Given the description of an element on the screen output the (x, y) to click on. 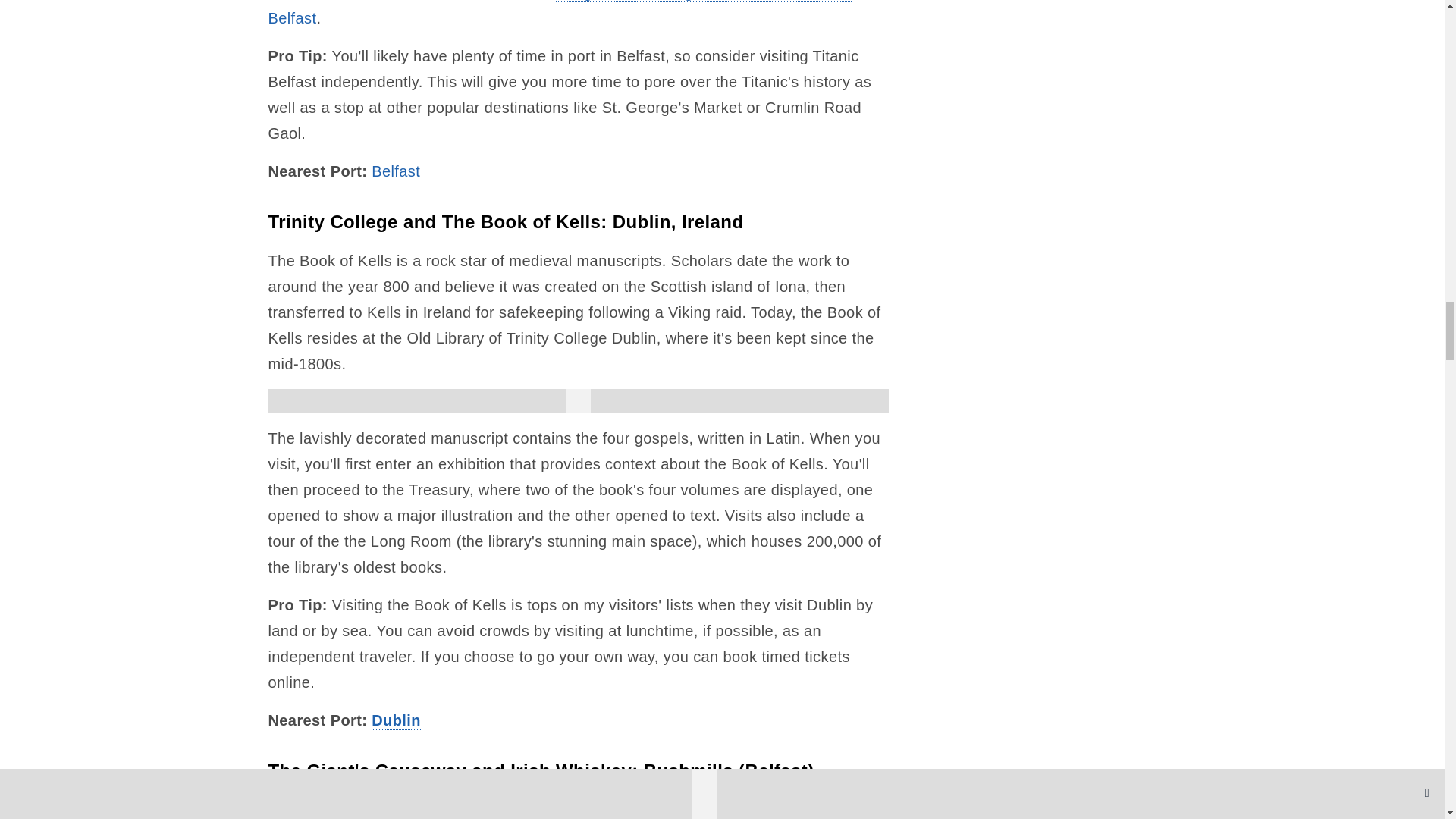
Dublin (395, 720)
Belfast (395, 171)
our guide to visiting the Titanic museum in Belfast (559, 13)
